Given the description of an element on the screen output the (x, y) to click on. 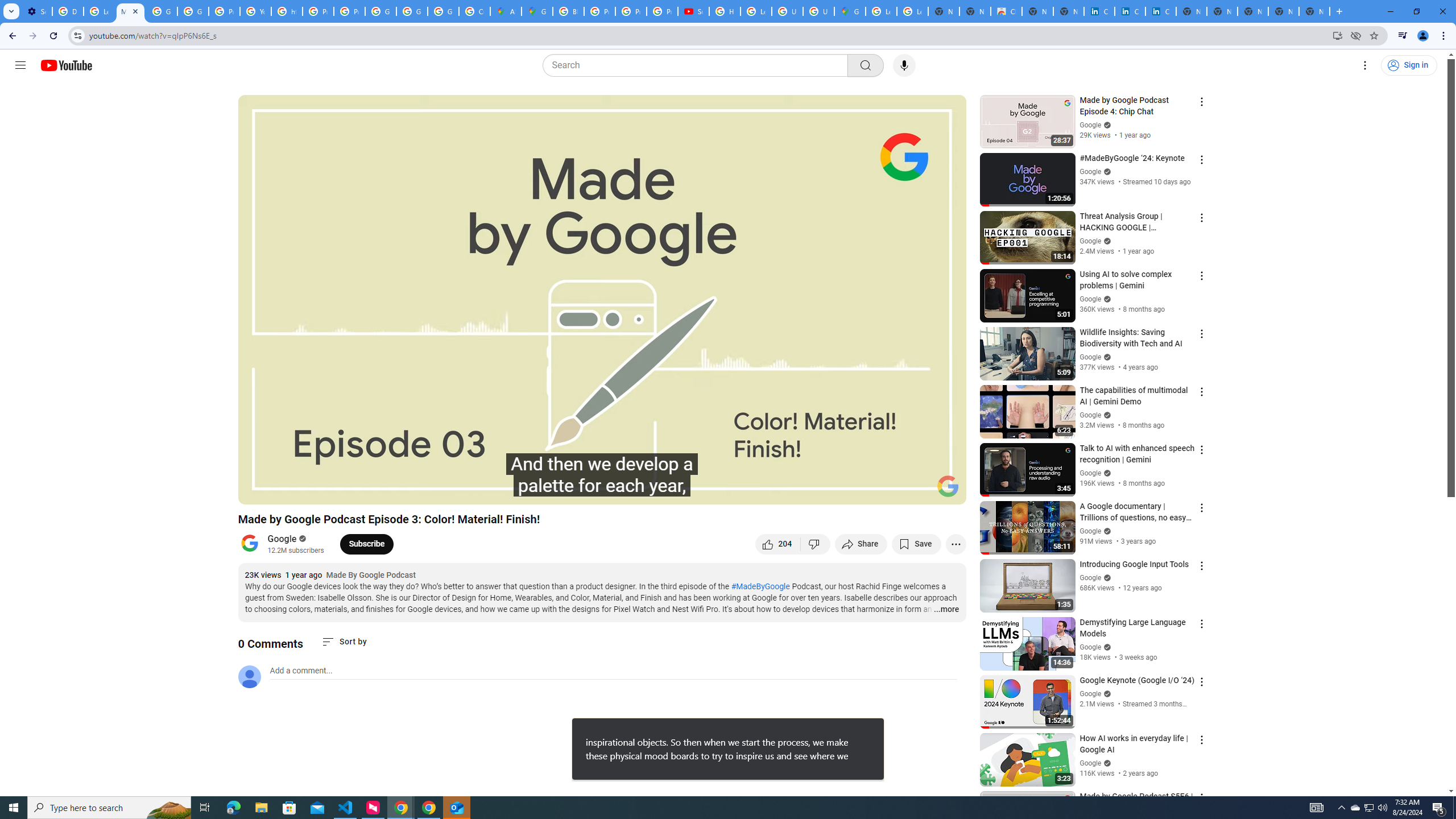
Channel watermark (947, 486)
YouTube (255, 11)
Copyright Policy (1160, 11)
Autoplay is on (808, 490)
Create your Google Account (474, 11)
Delete photos & videos - Computer - Google Photos Help (67, 11)
Mute (m) (312, 490)
Made By Google Podcast (371, 575)
